Given the description of an element on the screen output the (x, y) to click on. 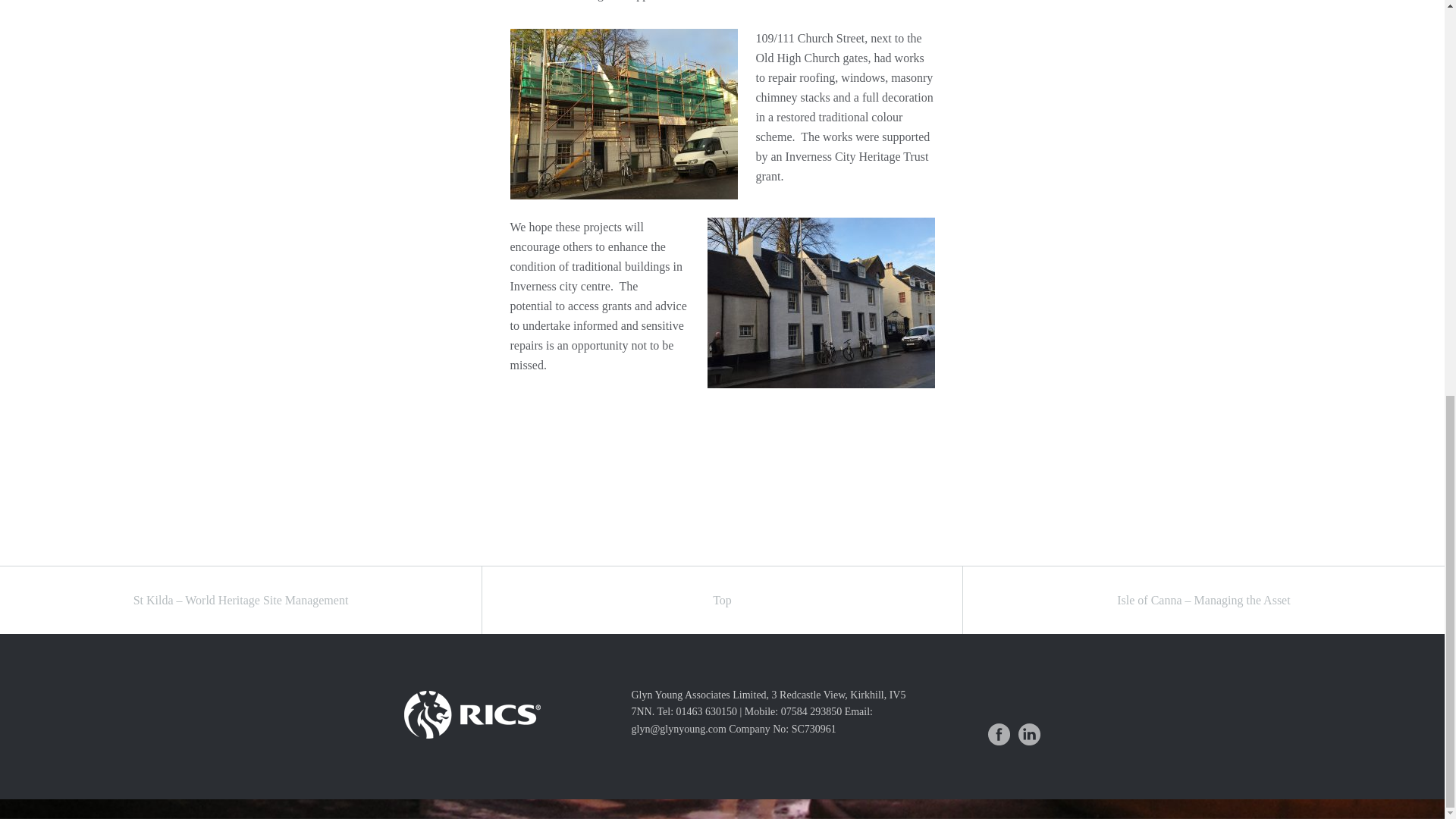
Top (721, 599)
Follow on Facebook (998, 734)
Follow on LinkedIn (1029, 734)
BNS Add Widget (717, 808)
